Given the description of an element on the screen output the (x, y) to click on. 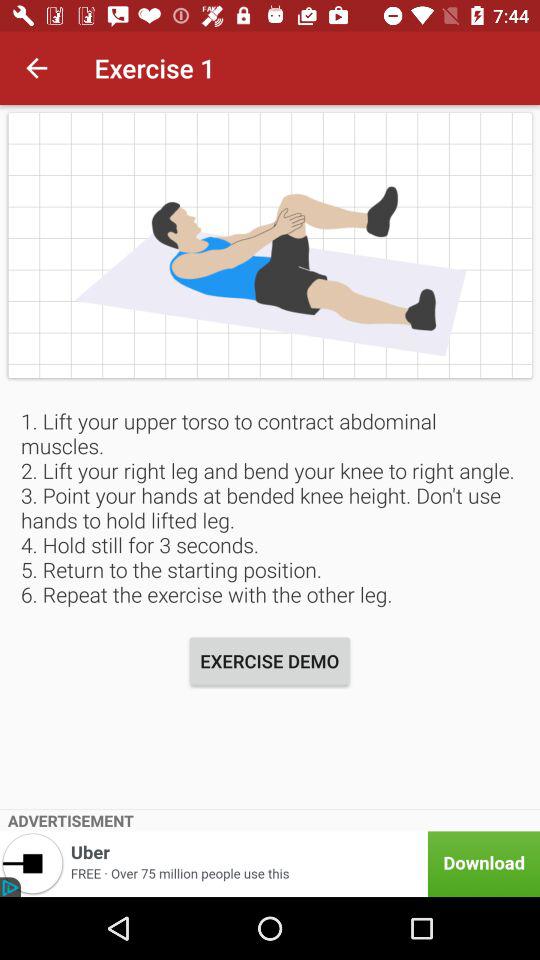
advertisement (270, 864)
